Given the description of an element on the screen output the (x, y) to click on. 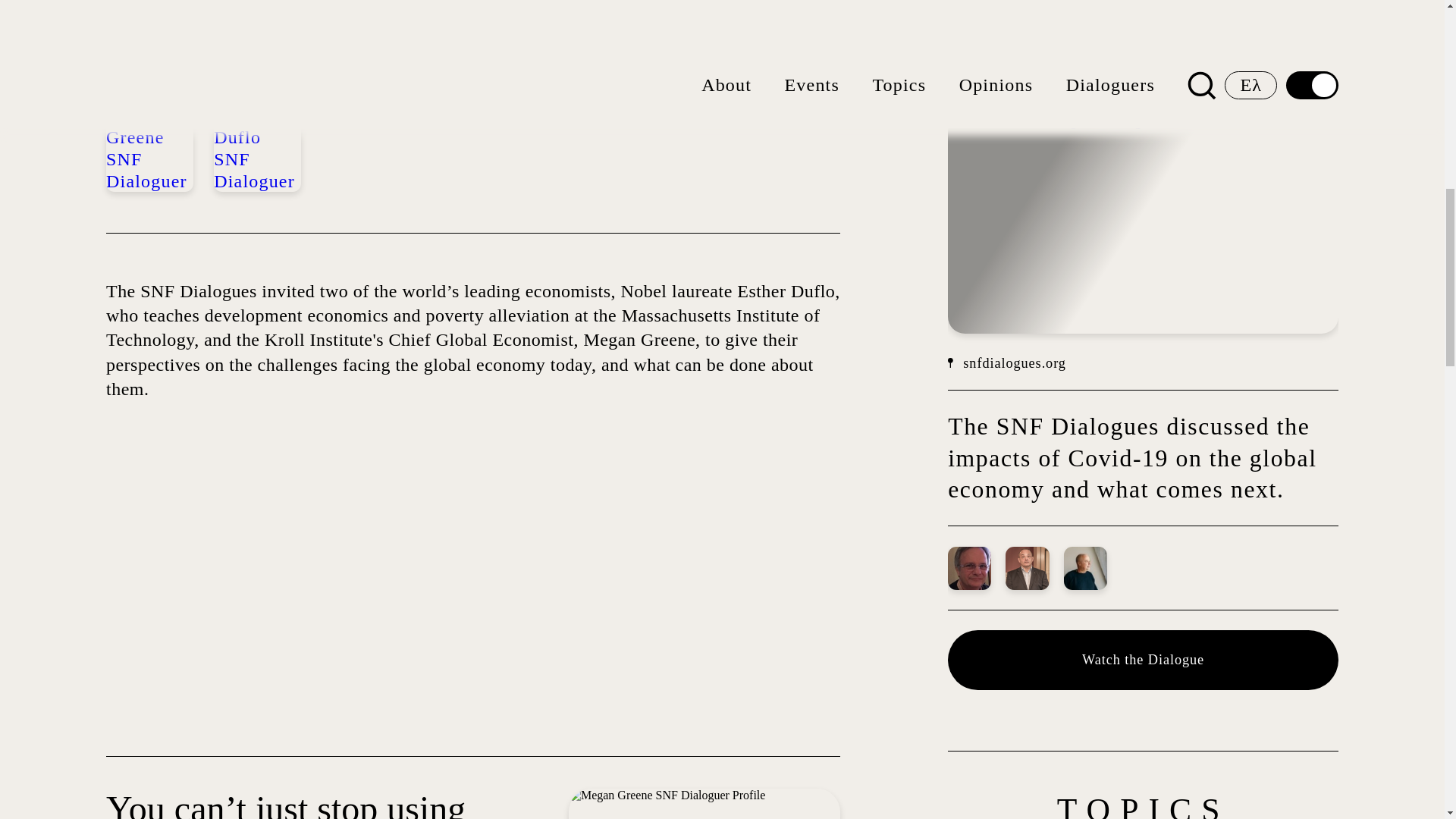
Emilios Avgouleas (1027, 568)
Watch the Dialogue (1142, 659)
vimeo-player (348, 588)
The Challenge to the Economy (1107, 75)
Andreas Dracopoulos (1085, 568)
Costas Meghir (969, 568)
